Given the description of an element on the screen output the (x, y) to click on. 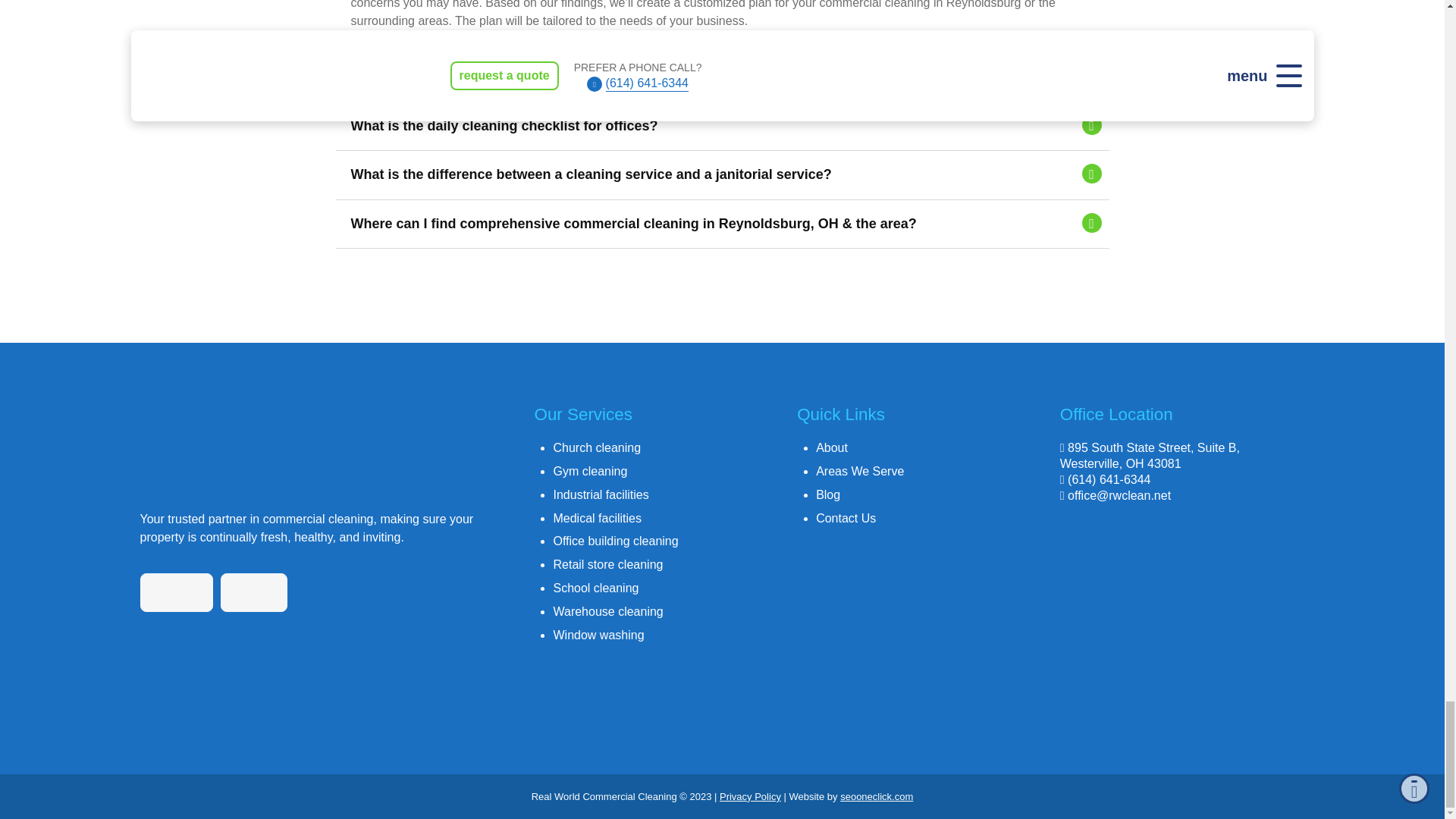
What is the daily cleaning checklist for offices? (721, 125)
Real World Cpmmercial Cleaning (1181, 614)
Why is it important to clean commercial floors? (721, 76)
Real World Commercial Cleaning (290, 448)
